Given the description of an element on the screen output the (x, y) to click on. 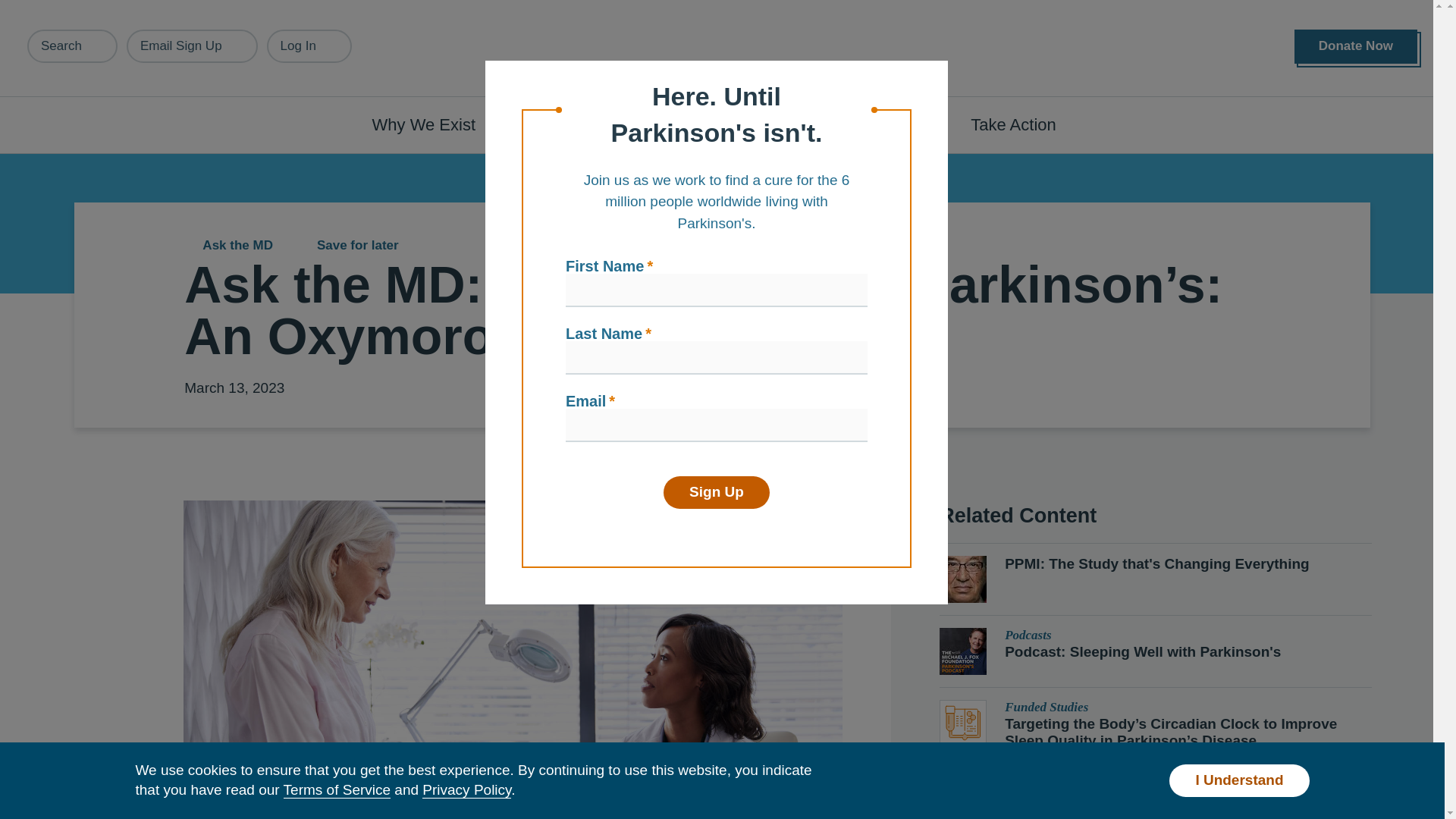
Home Page (722, 48)
Log In (309, 46)
Donate Now (1355, 46)
Search (72, 46)
Skip to main content (96, 7)
Email Sign Up (191, 46)
Understanding Parkinson's (640, 125)
Why We Exist (432, 125)
